Given the description of an element on the screen output the (x, y) to click on. 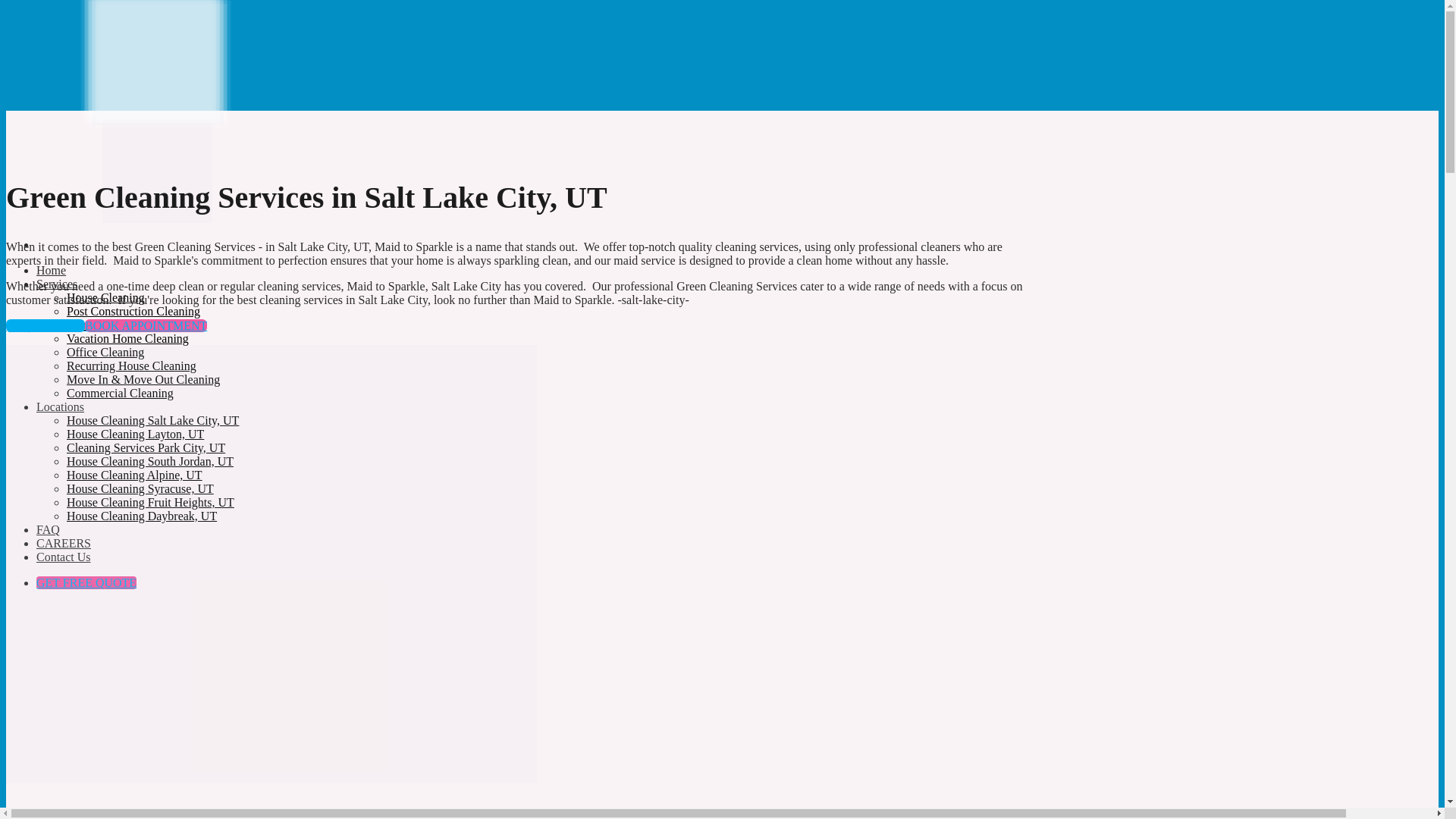
CAREERS (63, 543)
Office Cleaning (105, 351)
Vacation Home Cleaning (127, 338)
GET FREE QUOTE (86, 582)
House Cleaning South Jordan, UT (149, 461)
Post Construction Cleaning (133, 310)
Home (50, 269)
FAQ (47, 529)
House Cleaning Salt Lake City, UT (152, 420)
House Cleaning Alpine, UT (134, 474)
House Cleaning Daybreak, UT (141, 515)
Contact Us (63, 556)
Locations (60, 406)
